Given the description of an element on the screen output the (x, y) to click on. 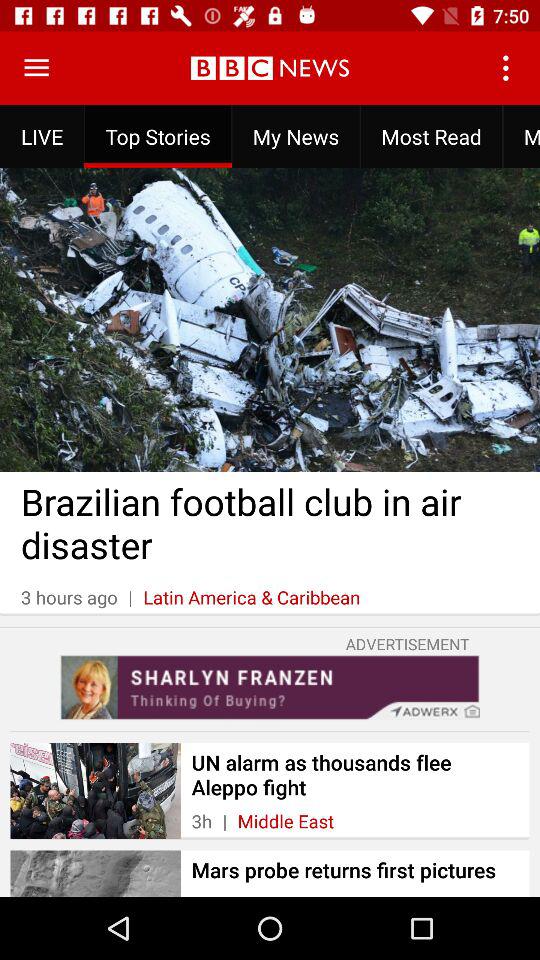
advertisement link (270, 687)
